Given the description of an element on the screen output the (x, y) to click on. 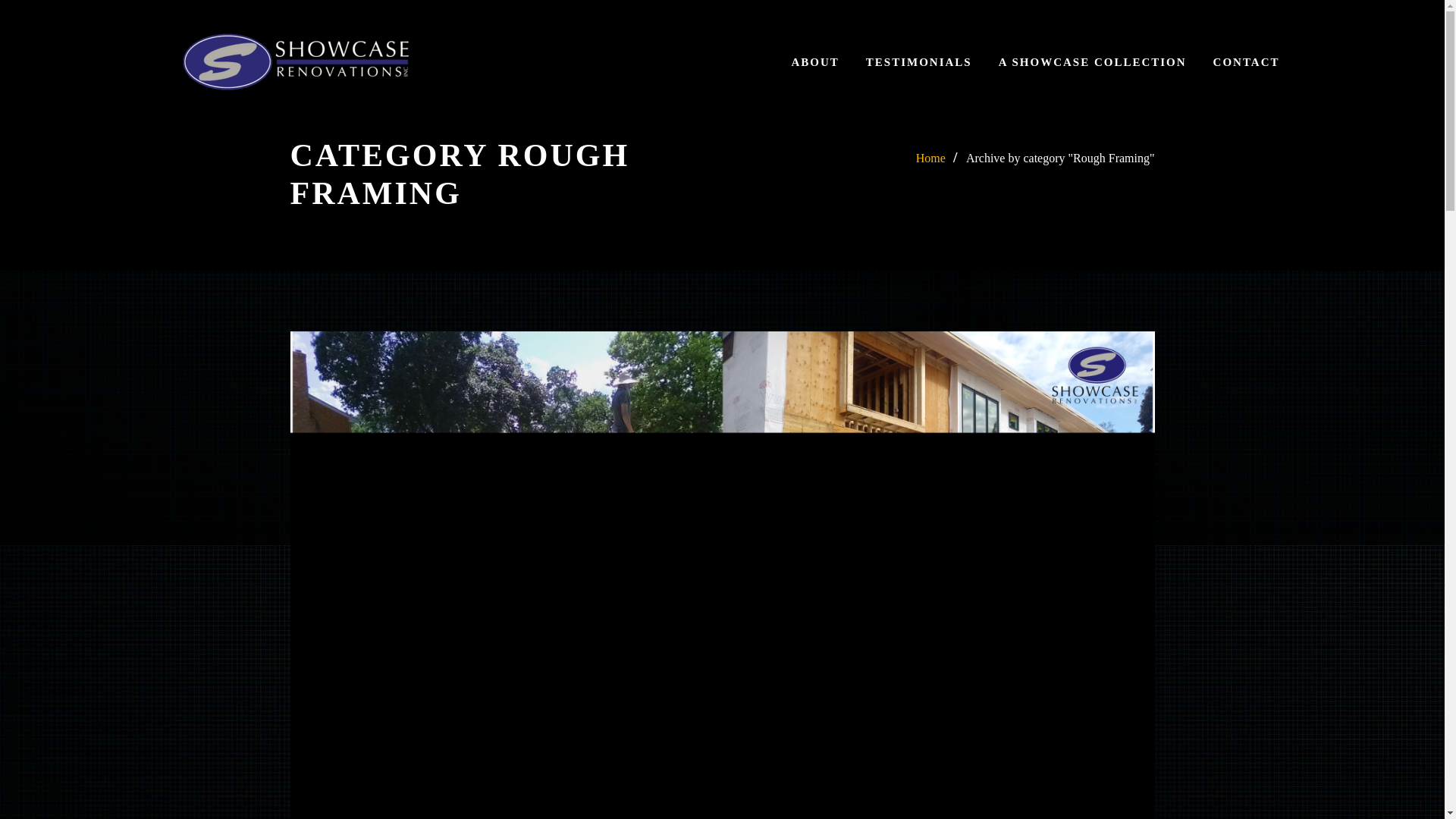
ABOUT (814, 62)
TESTIMONIALS (919, 62)
Archive by category "Rough Framing" (1060, 157)
A SHOWCASE COLLECTION (1092, 62)
Home (929, 157)
CONTACT (1245, 62)
